Given the description of an element on the screen output the (x, y) to click on. 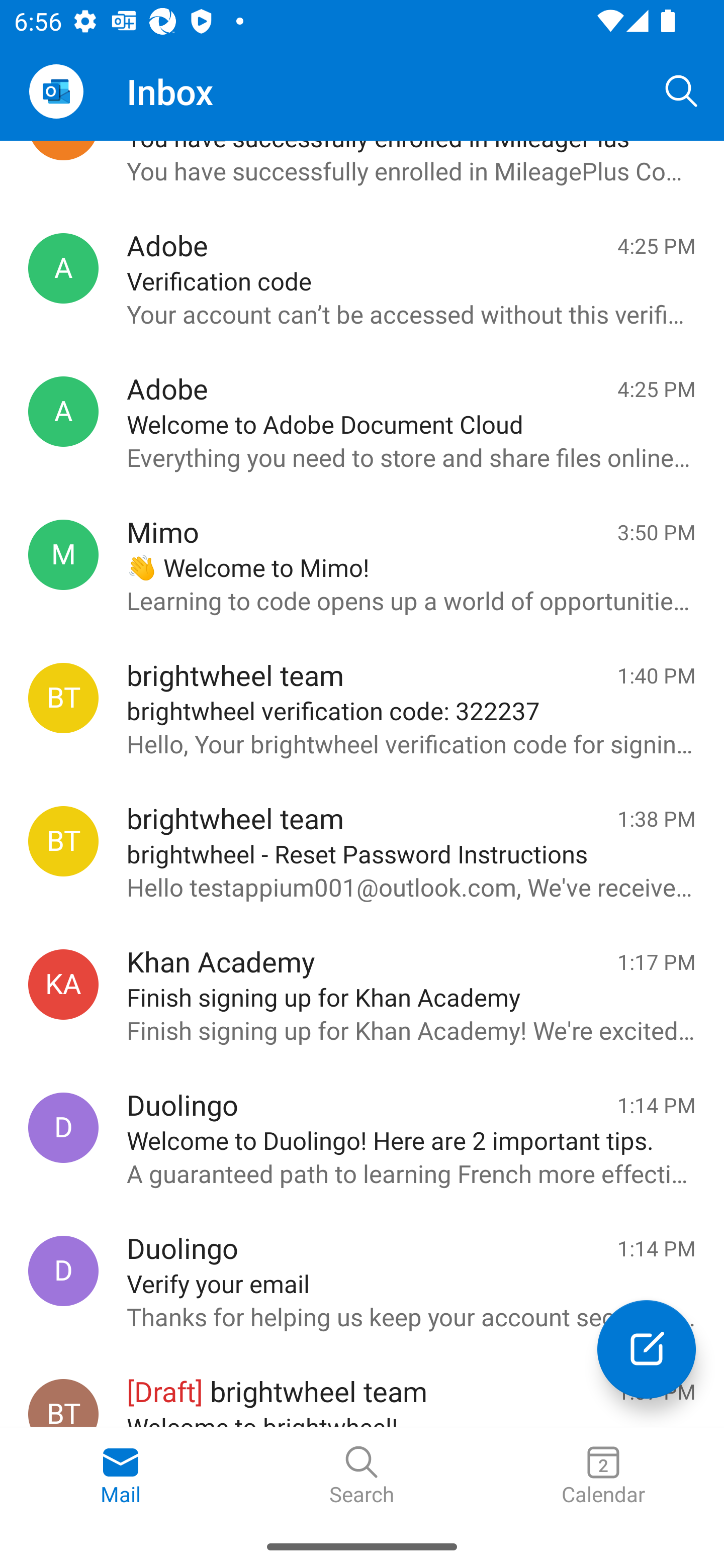
Search (681, 90)
Open Navigation Drawer (55, 91)
Adobe, message@adobe.com (63, 268)
Adobe, message@adobe.com (63, 411)
Mimo, support@getmimo.com (63, 554)
brightwheel team, recovery@mybrightwheel.com (63, 698)
brightwheel team, recovery@mybrightwheel.com (63, 840)
Khan Academy, no-reply@khanacademy.org (63, 983)
Duolingo, hello@duolingo.com (63, 1127)
Duolingo, hello@duolingo.com (63, 1270)
Compose (646, 1348)
Search (361, 1475)
Calendar (603, 1475)
